Given the description of an element on the screen output the (x, y) to click on. 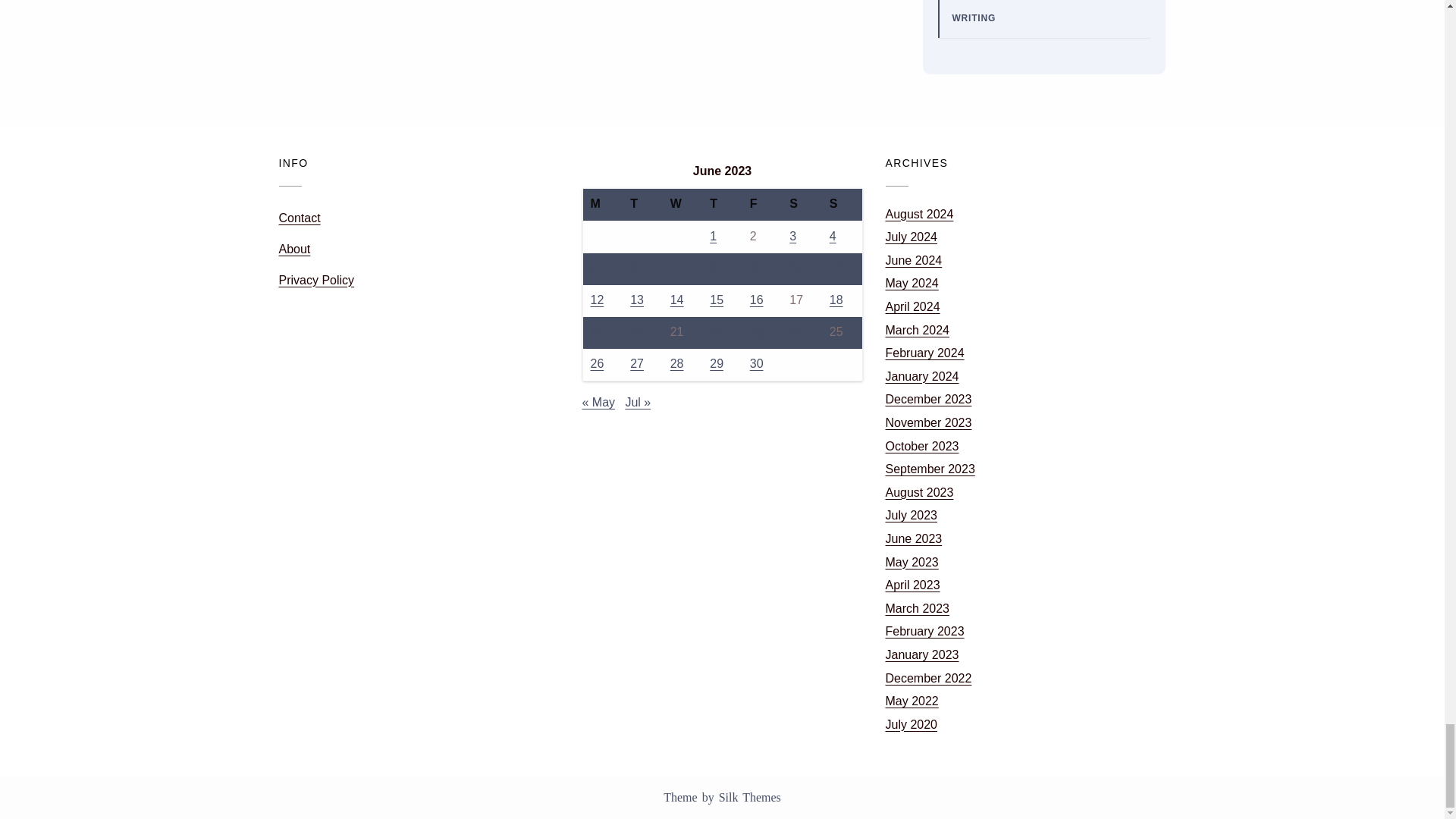
Tuesday (642, 205)
Thursday (721, 205)
Friday (762, 205)
Sunday (841, 205)
Saturday (801, 205)
Wednesday (682, 205)
Monday (602, 205)
